Given the description of an element on the screen output the (x, y) to click on. 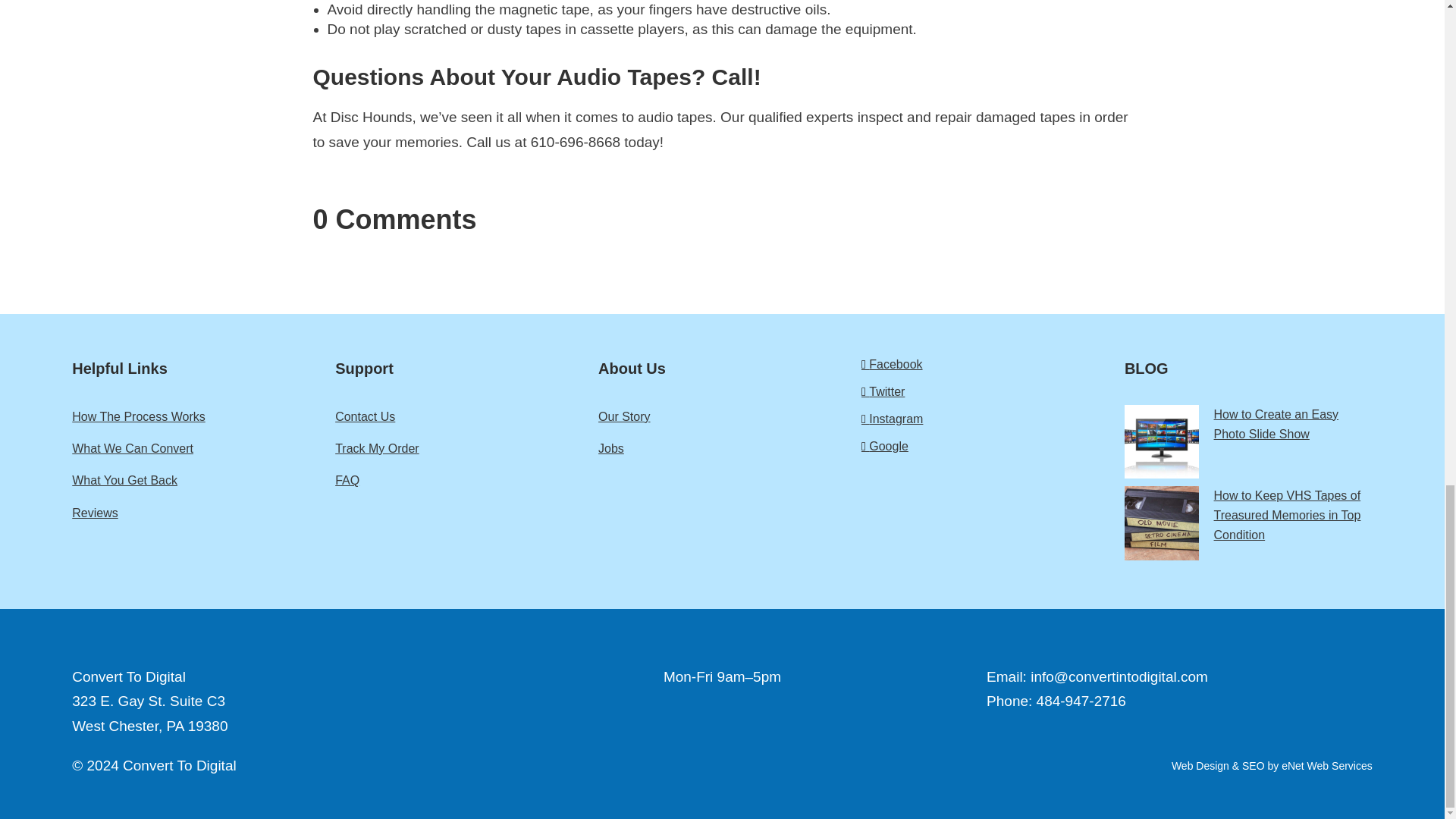
Instagram (985, 419)
Google (985, 446)
Reviews (195, 513)
How to Create an Easy Photo Slide Show (1248, 441)
Jobs (721, 448)
What You Get Back (195, 480)
What We Can Convert (195, 448)
Twitter (985, 392)
Track My Order (458, 448)
Contact Us (458, 416)
How The Process Works (195, 416)
Our Story (721, 416)
How to Keep VHS Tapes of Treasured Memories in Top Condition (1248, 523)
Facebook (985, 364)
FAQ (458, 480)
